Given the description of an element on the screen output the (x, y) to click on. 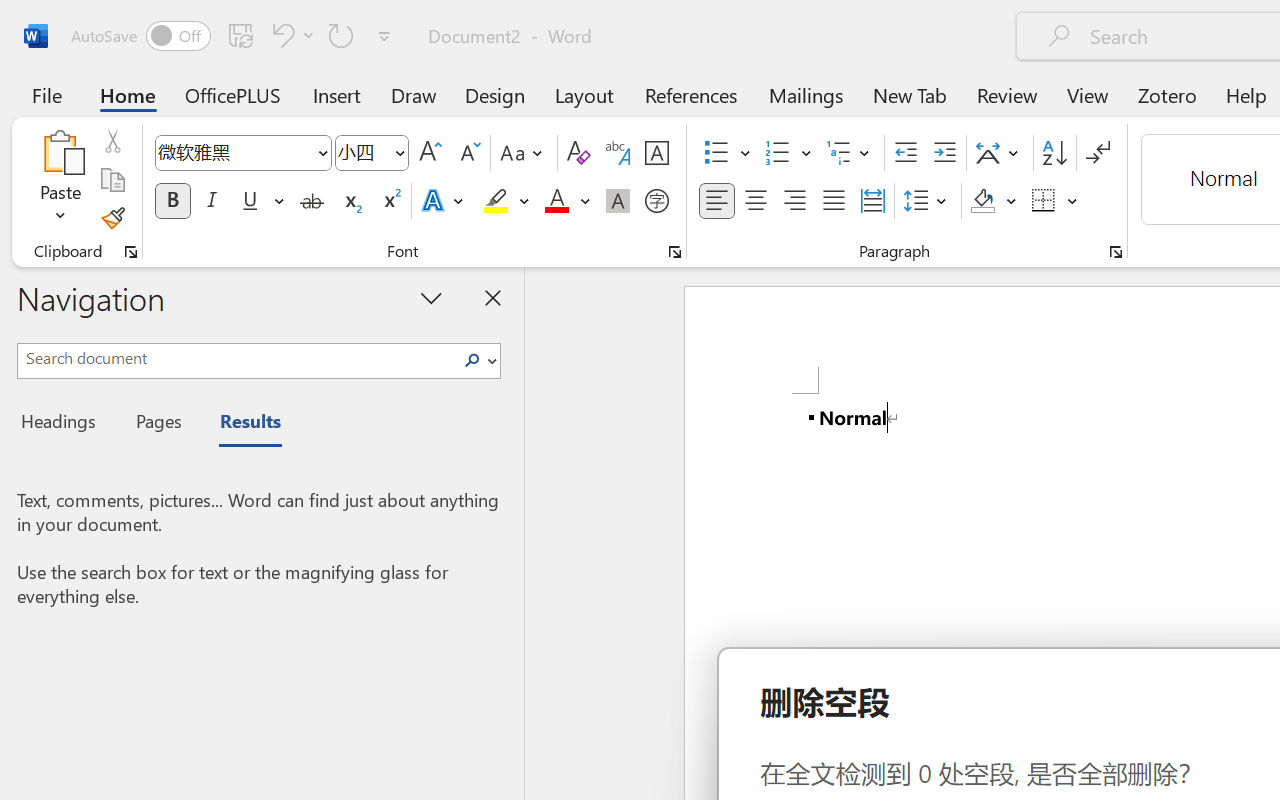
Font (234, 152)
File Tab (46, 94)
Multilevel List (850, 153)
Strikethrough (312, 201)
Search (478, 360)
Show/Hide Editing Marks (1098, 153)
Clear Formatting (578, 153)
Underline (261, 201)
View (1087, 94)
Text Effects and Typography (444, 201)
Numbering (788, 153)
Office Clipboard... (131, 252)
OfficePLUS (233, 94)
Customize Quick Access Toolbar (384, 35)
